Given the description of an element on the screen output the (x, y) to click on. 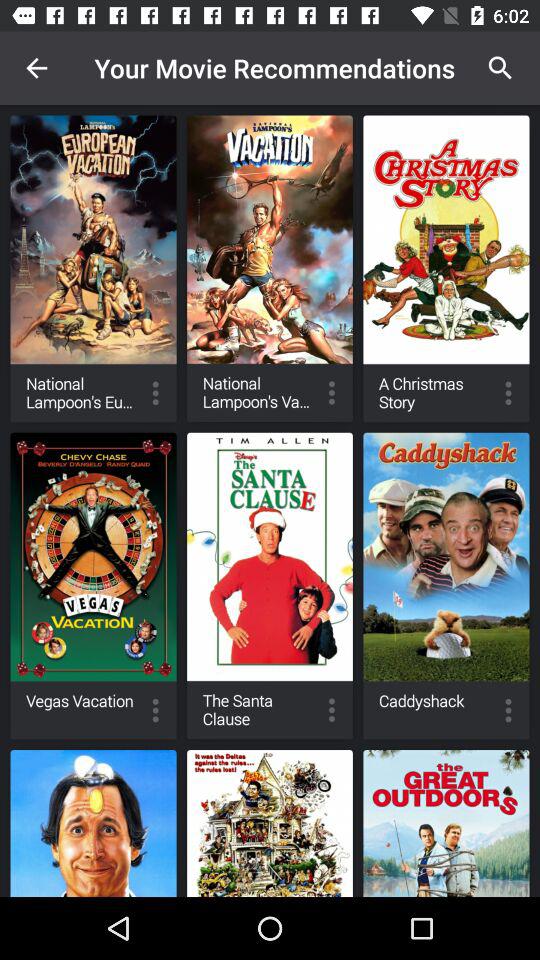
turn off icon next to your movie recommendations item (36, 68)
